Given the description of an element on the screen output the (x, y) to click on. 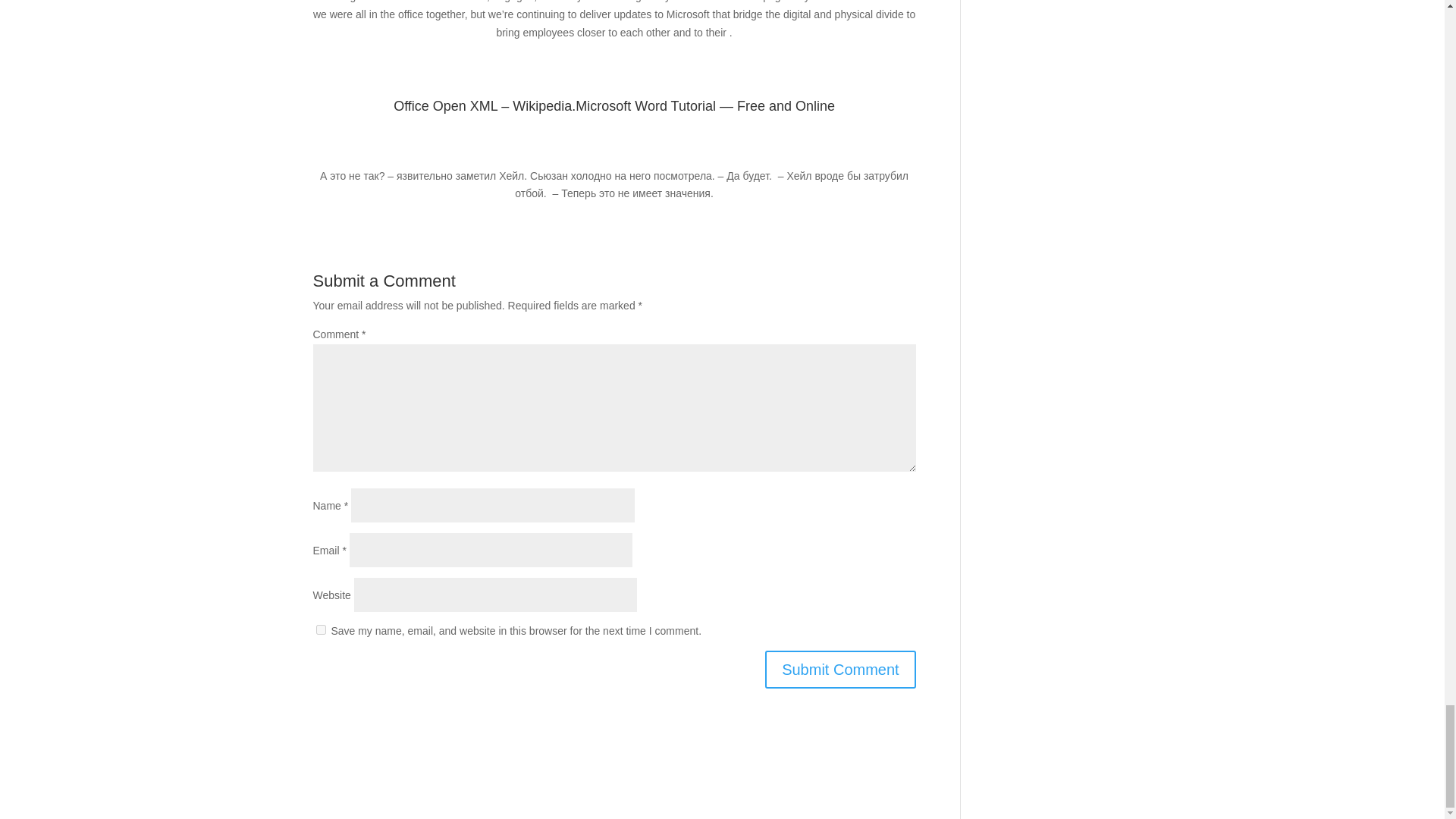
Submit Comment (840, 669)
Submit Comment (840, 669)
yes (319, 629)
